Given the description of an element on the screen output the (x, y) to click on. 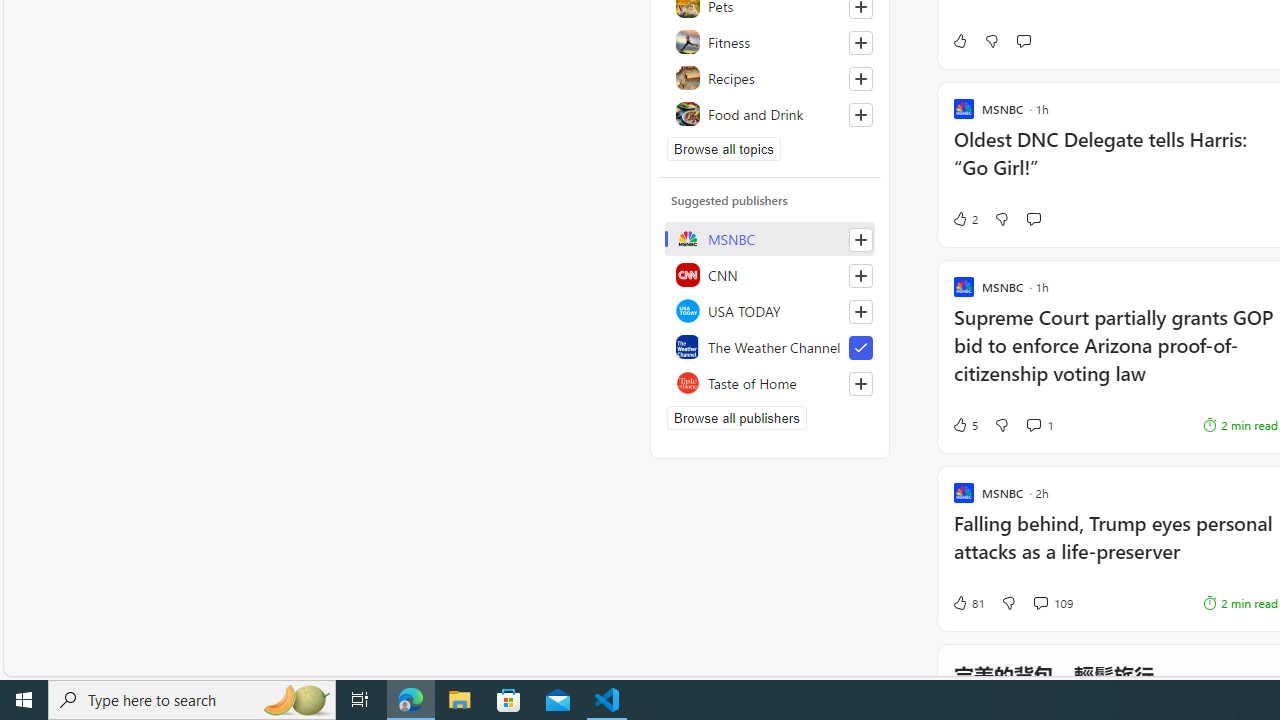
View comments 109 Comment (1052, 602)
Fitness (770, 42)
MSNBC (770, 238)
Like (959, 40)
Start the conversation (1033, 219)
CNN (770, 274)
Browse all topics (724, 148)
2 Like (964, 219)
View comments 1 Comment (1039, 425)
81 Like (968, 602)
Recipes (770, 78)
